Given the description of an element on the screen output the (x, y) to click on. 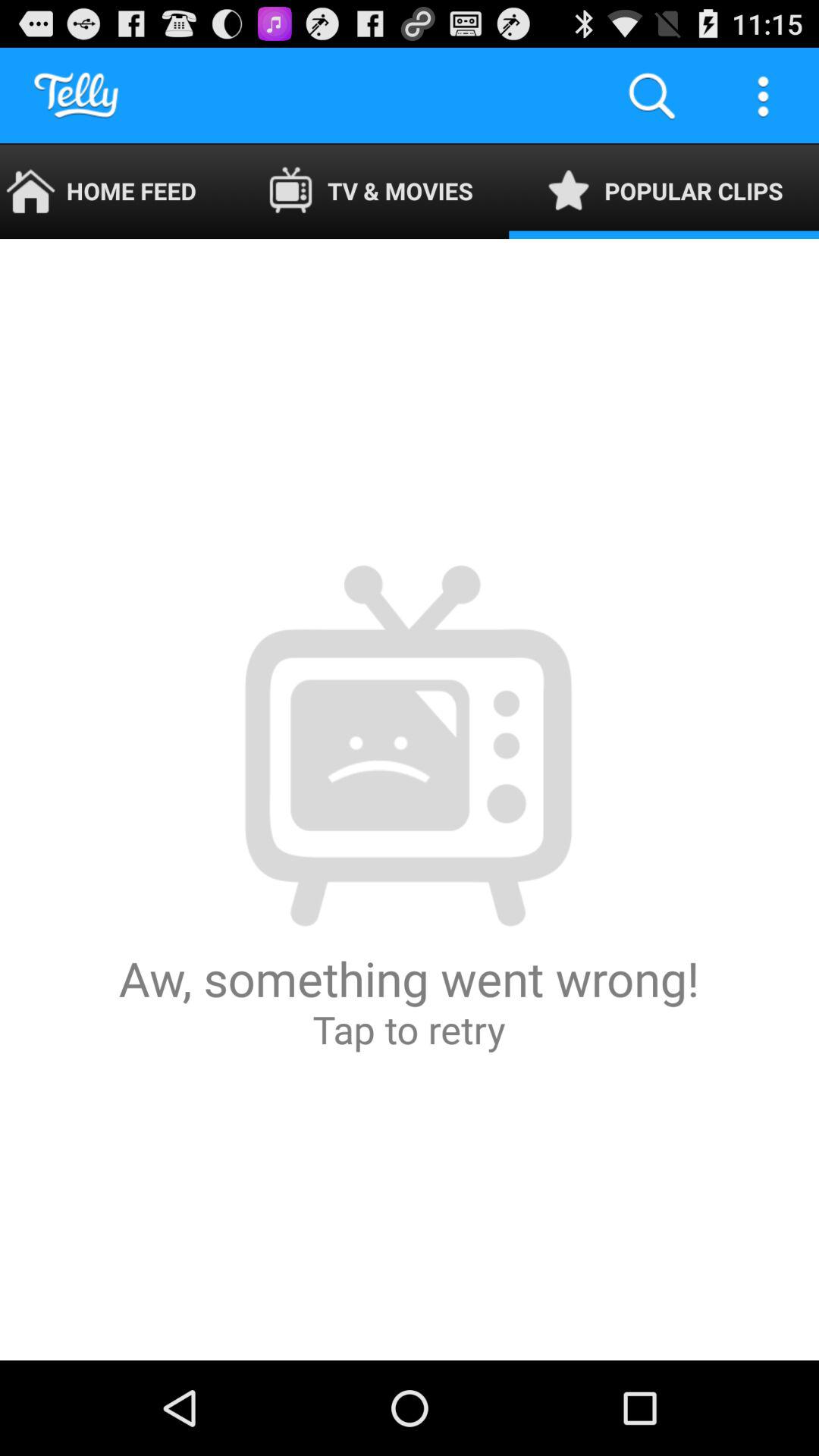
press app to the right of tv & movies icon (651, 95)
